Given the description of an element on the screen output the (x, y) to click on. 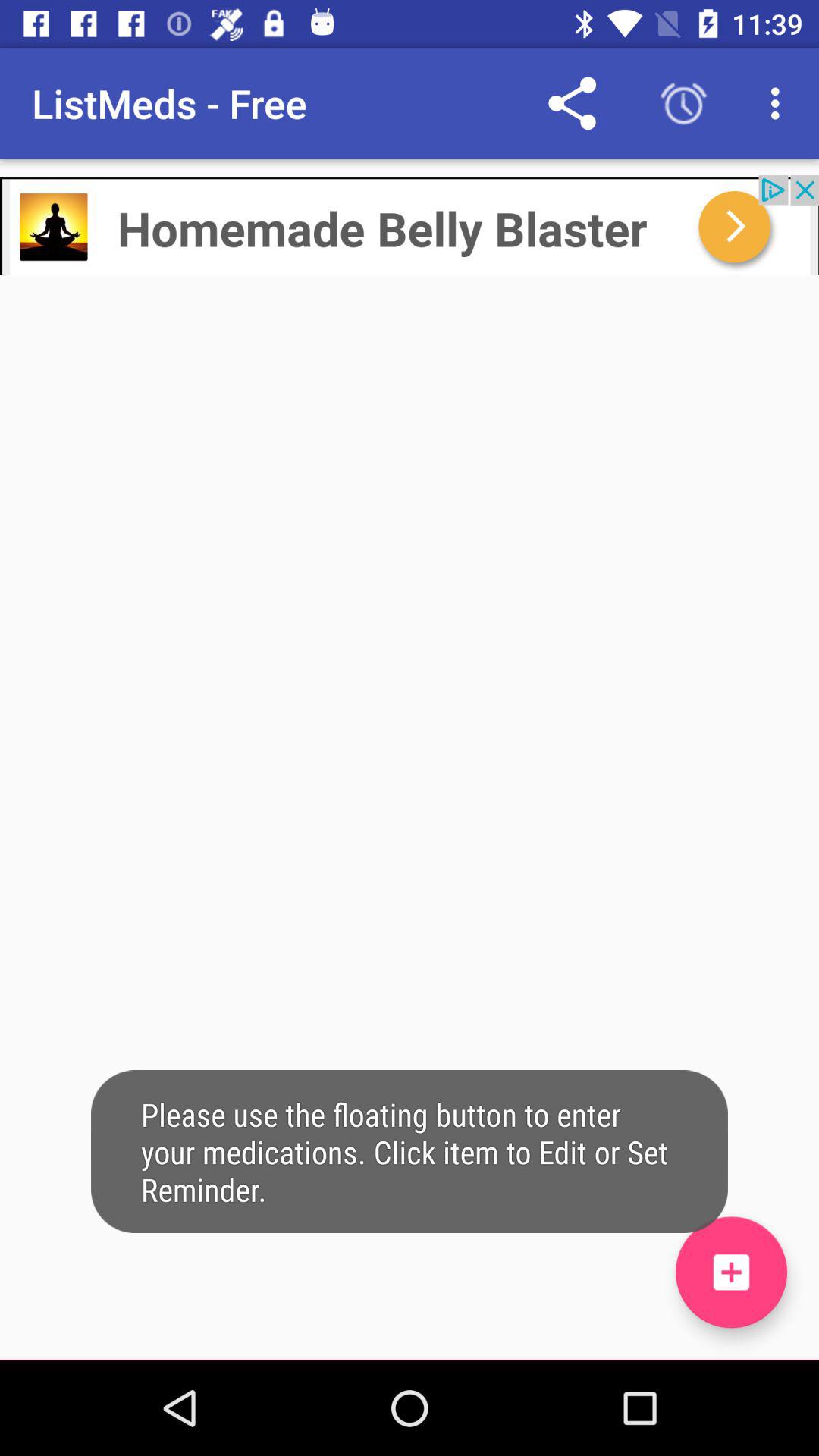
listmeds free (731, 1272)
